Given the description of an element on the screen output the (x, y) to click on. 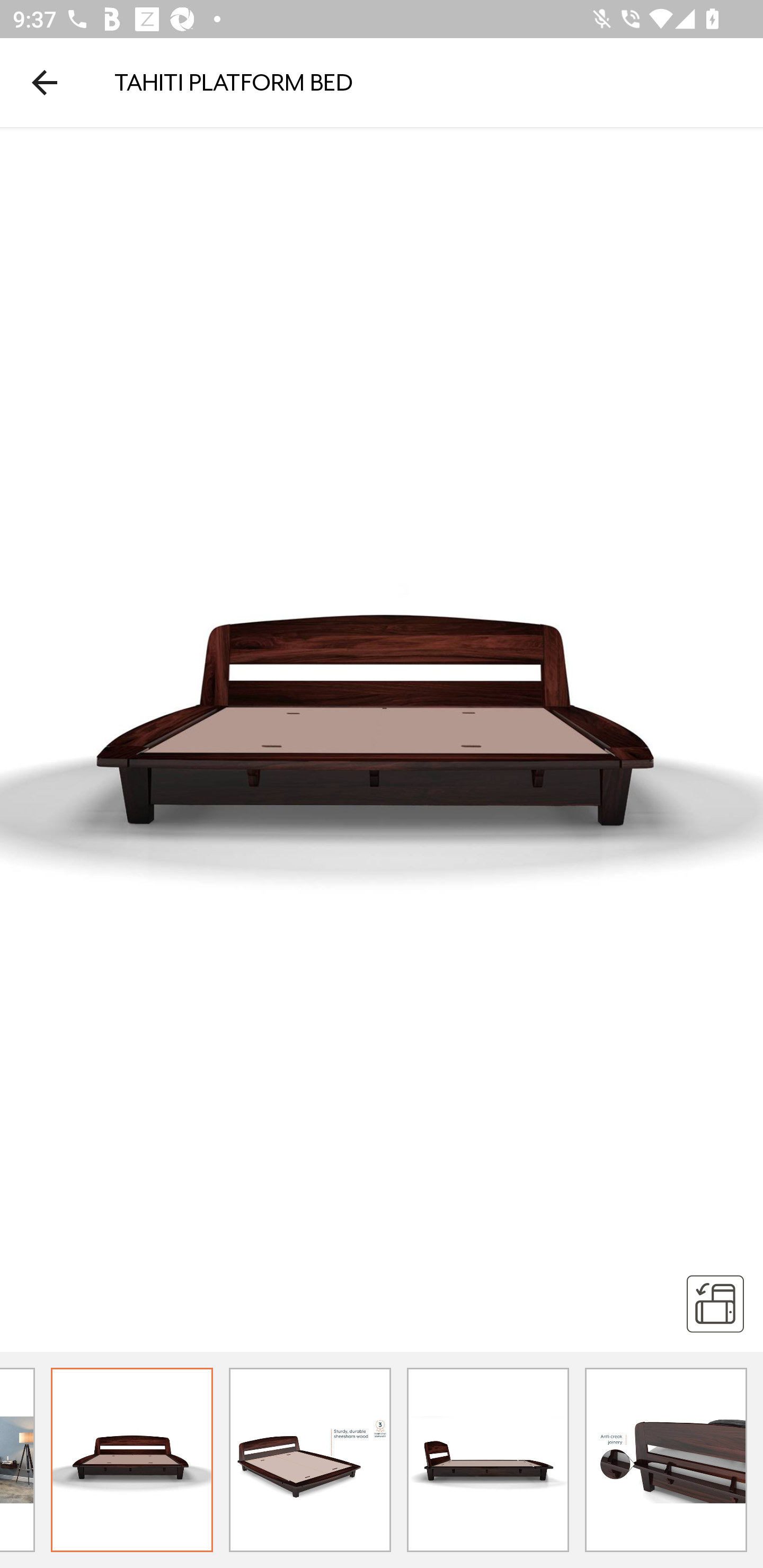
Navigate up (44, 82)
 (715, 1302)
